Given the description of an element on the screen output the (x, y) to click on. 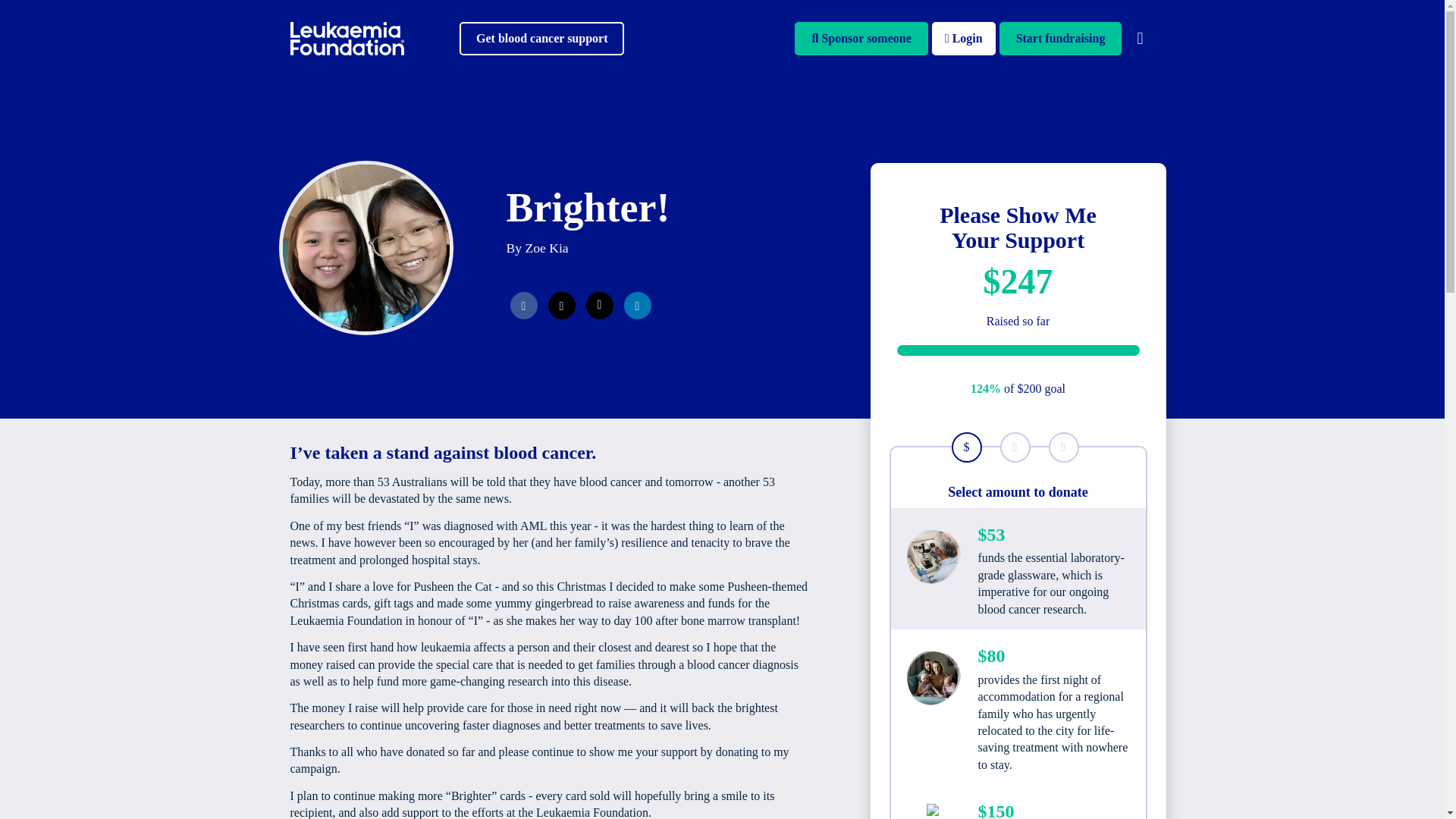
Get blood cancer support (542, 38)
Zoe Kia (545, 247)
Login (963, 38)
Start fundraising (1060, 38)
Sponsor someone (860, 38)
